Given the description of an element on the screen output the (x, y) to click on. 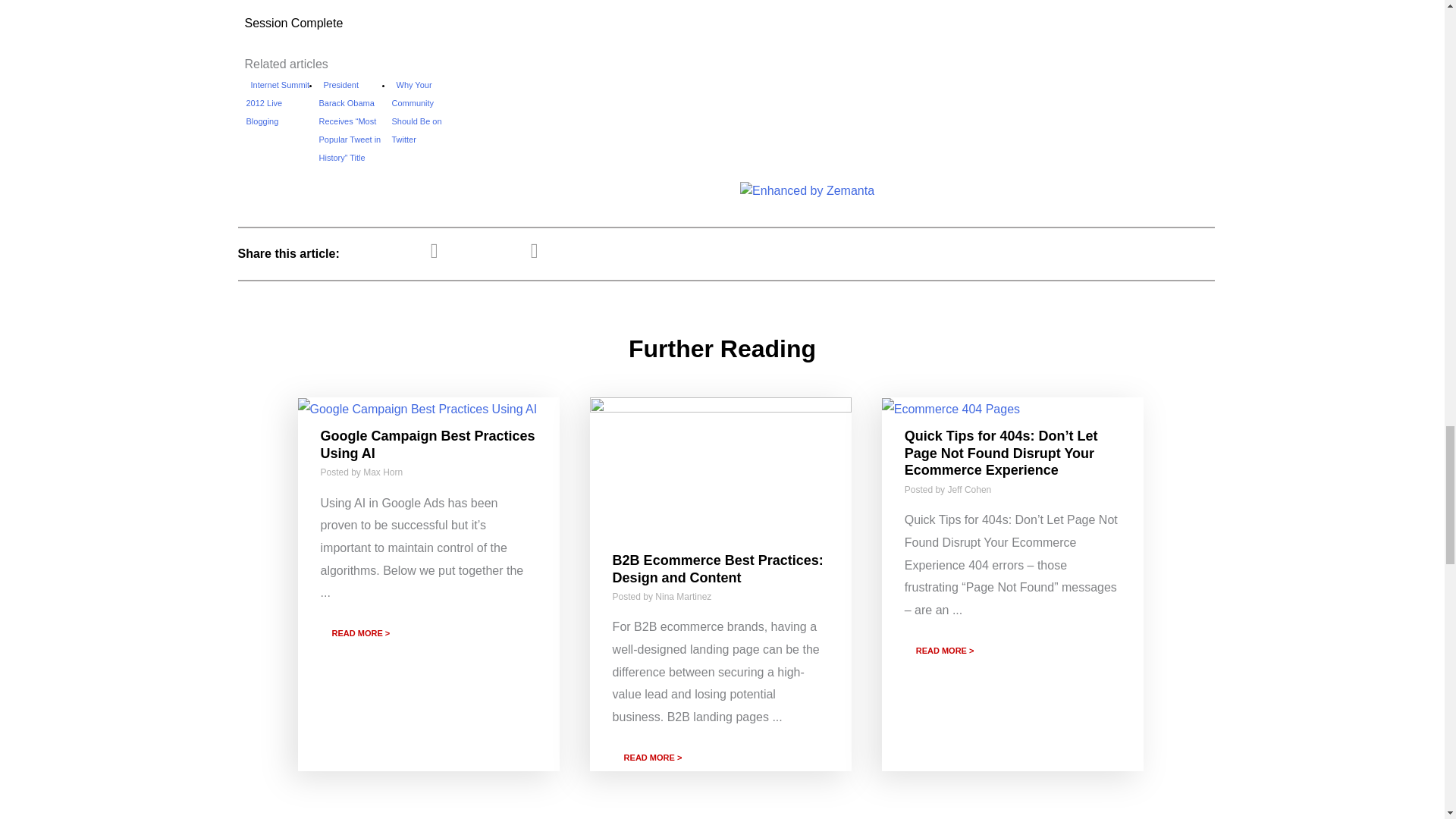
Posts by Nina Martinez (683, 596)
Google Campaign Best Practices Using AI (417, 408)
Posts by Max Horn (382, 471)
Posts by Jeff Cohen (969, 489)
B2B Ecommerce Best Practices: Design and Content (720, 469)
